Given the description of an element on the screen output the (x, y) to click on. 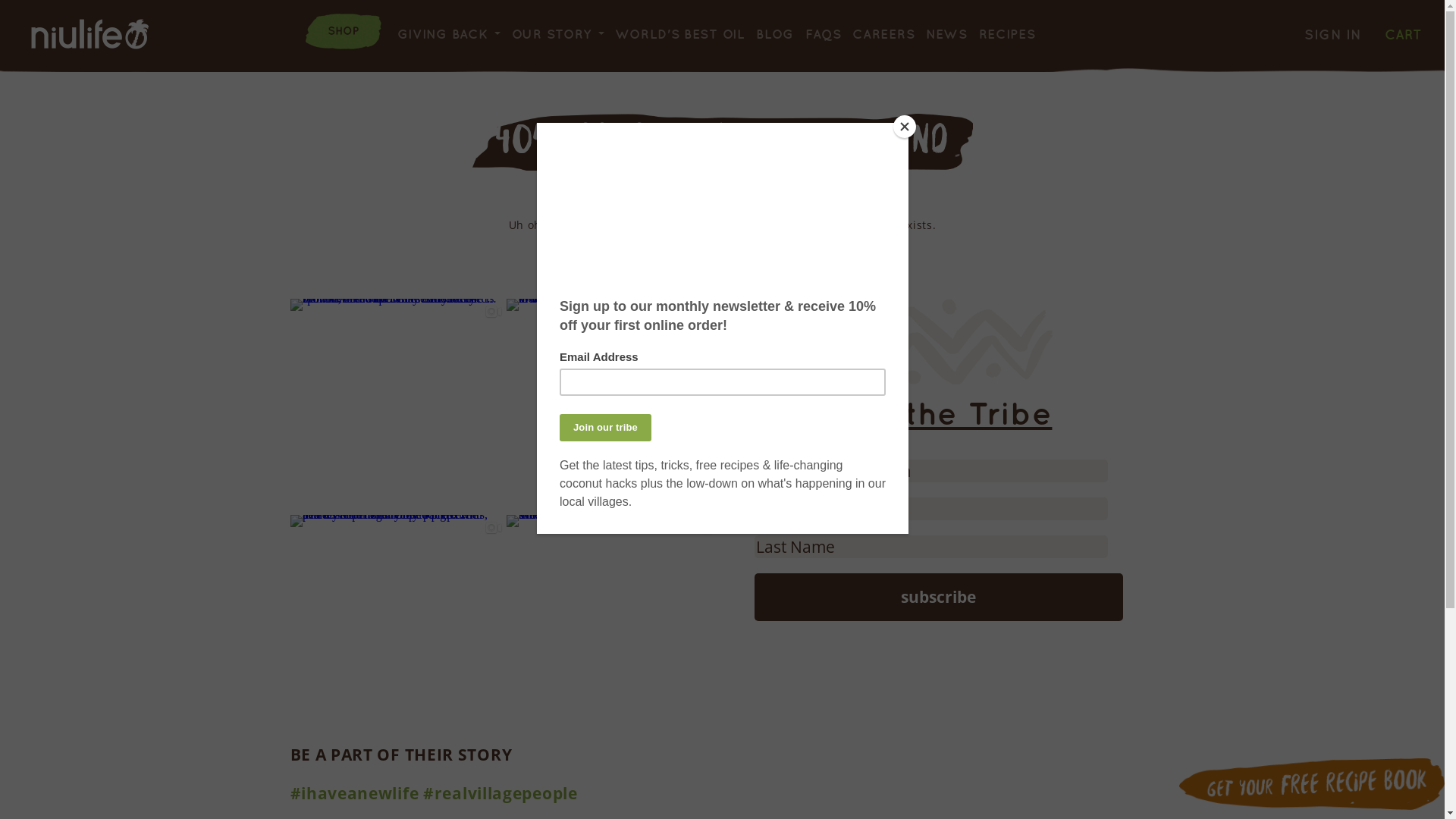
OUR STORY Element type: text (551, 33)
CART Element type: text (1402, 33)
CAREERS Element type: text (883, 33)
#realvillagepeople Element type: text (500, 792)
BLOG Element type: text (774, 33)
SIGN IN Element type: text (1332, 34)
WORLD'S BEST OIL Element type: text (679, 33)
FAQS Element type: text (823, 33)
NEWS Element type: text (946, 33)
#ihaveanewlife Element type: text (353, 792)
GIVING BACK Element type: text (442, 33)
SEARCH Element type: text (1281, 21)
RECIPES Element type: text (1007, 33)
Subscribe Element type: text (937, 597)
